Given the description of an element on the screen output the (x, y) to click on. 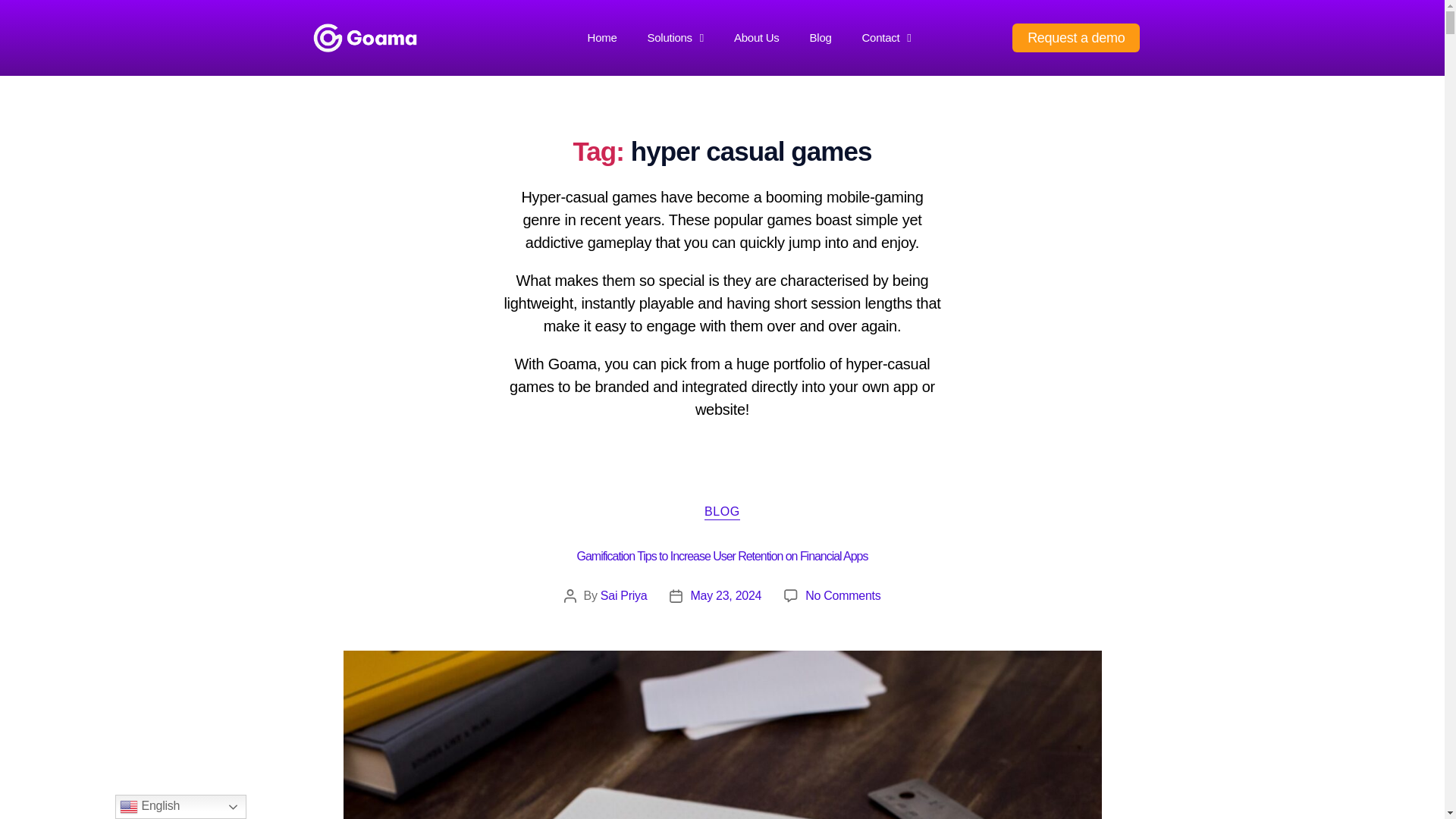
Request a demo (1075, 37)
Solutions (675, 38)
About Us (756, 38)
Contact (886, 38)
